Given the description of an element on the screen output the (x, y) to click on. 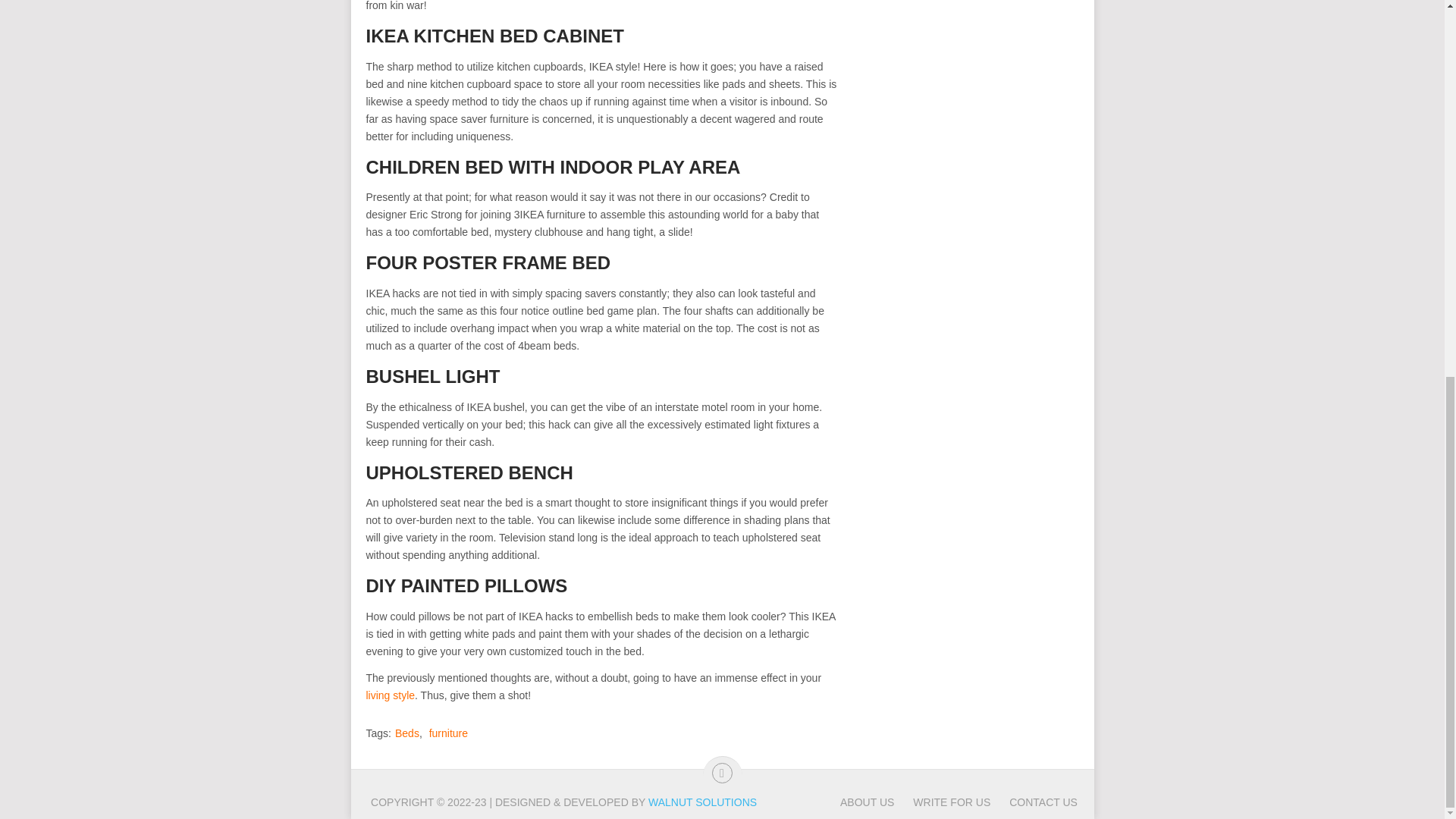
ABOUT US (866, 802)
CONTACT US (1033, 802)
WRITE FOR US (941, 802)
furniture (448, 733)
WALNUT SOLUTIONS (702, 802)
living style (389, 695)
Beds (406, 733)
